Given the description of an element on the screen output the (x, y) to click on. 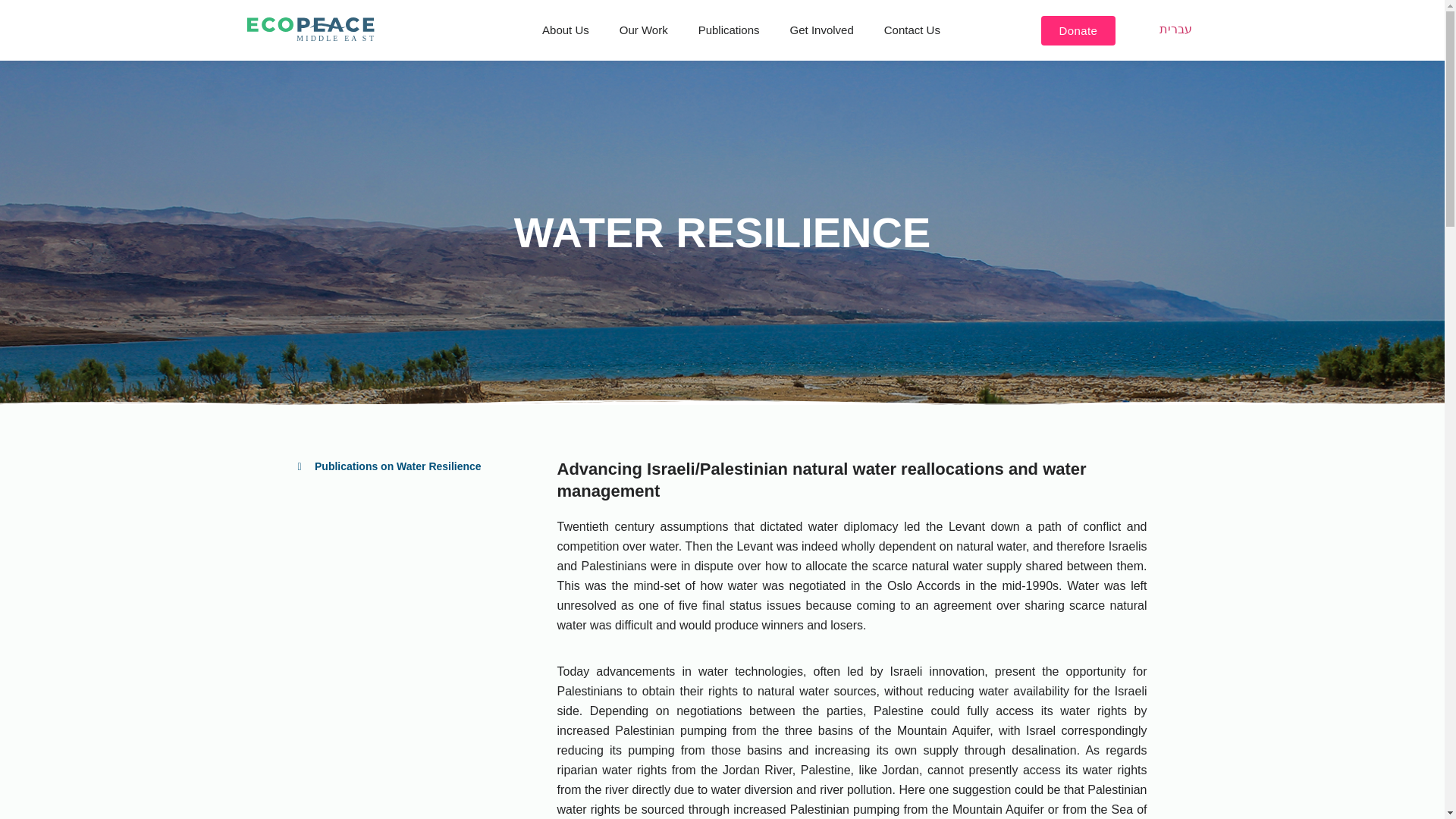
About Us (565, 30)
Contact Us (912, 30)
Publications (728, 30)
Our Work (643, 30)
Get Involved (821, 30)
